Given the description of an element on the screen output the (x, y) to click on. 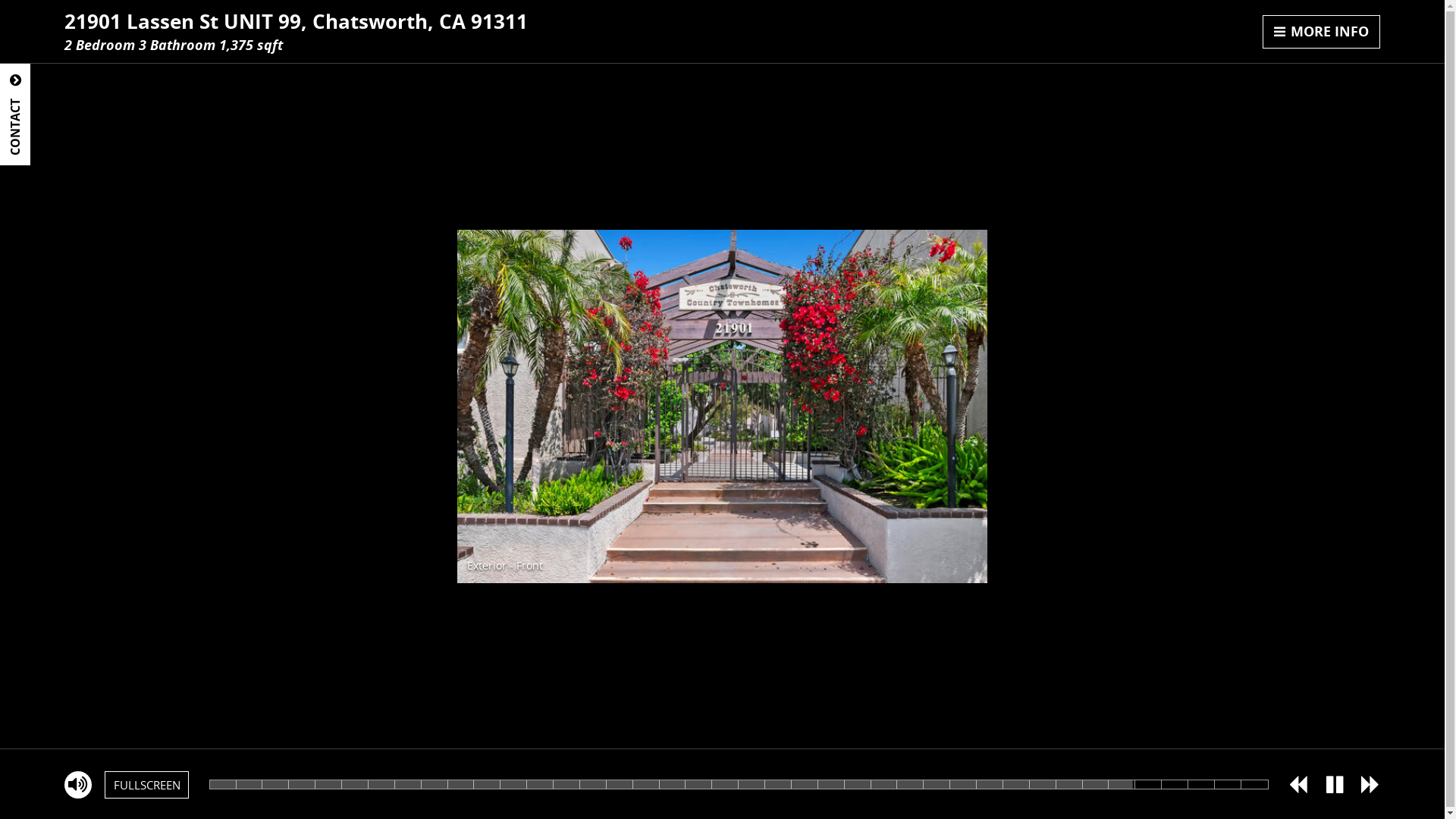
MORE INFO Element type: text (1321, 31)
